Given the description of an element on the screen output the (x, y) to click on. 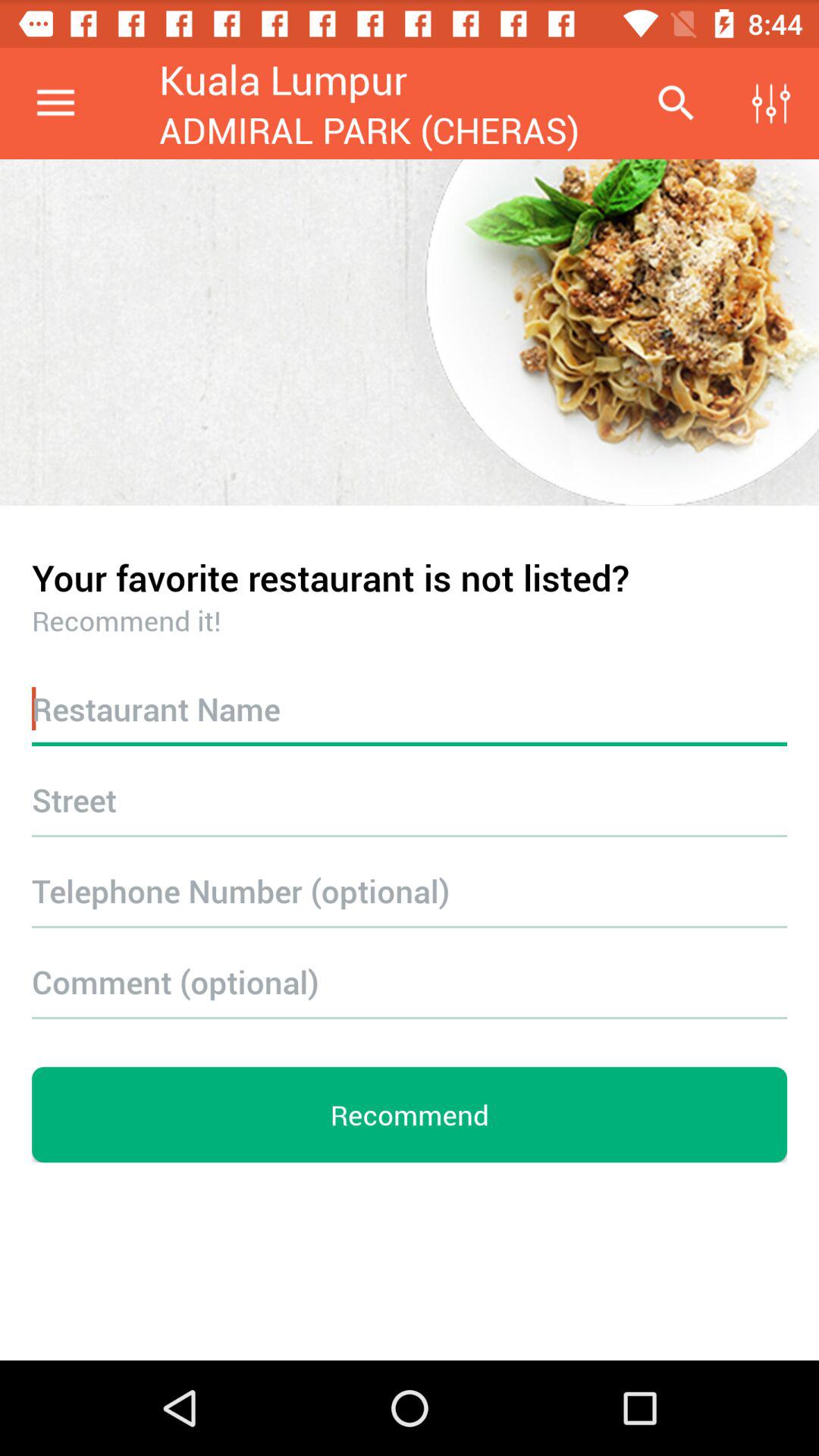
turn off the item above the recommend item (409, 981)
